Given the description of an element on the screen output the (x, y) to click on. 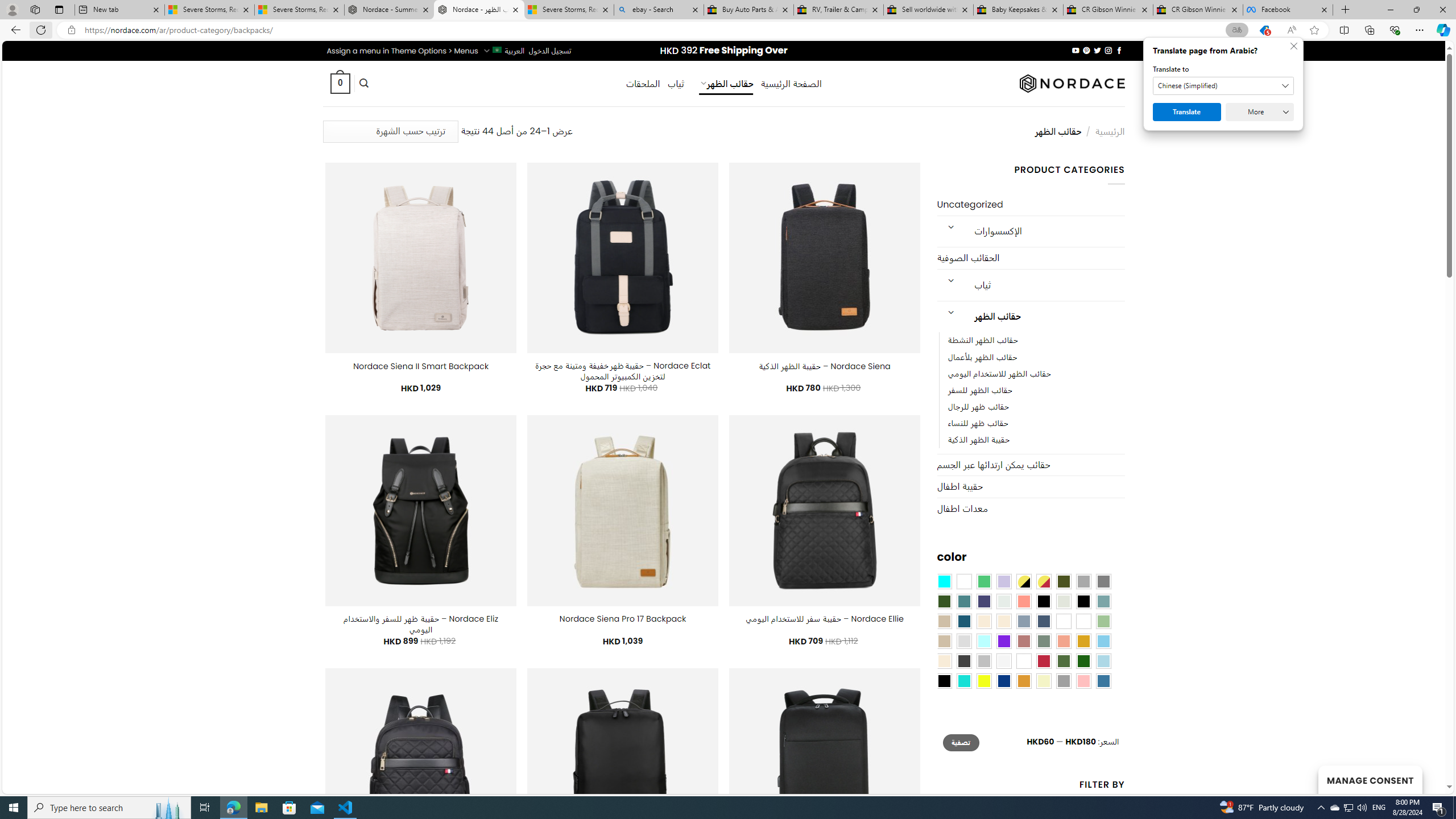
Cream (1003, 621)
Yellow-Black (1023, 581)
Translate (1187, 112)
